Given the description of an element on the screen output the (x, y) to click on. 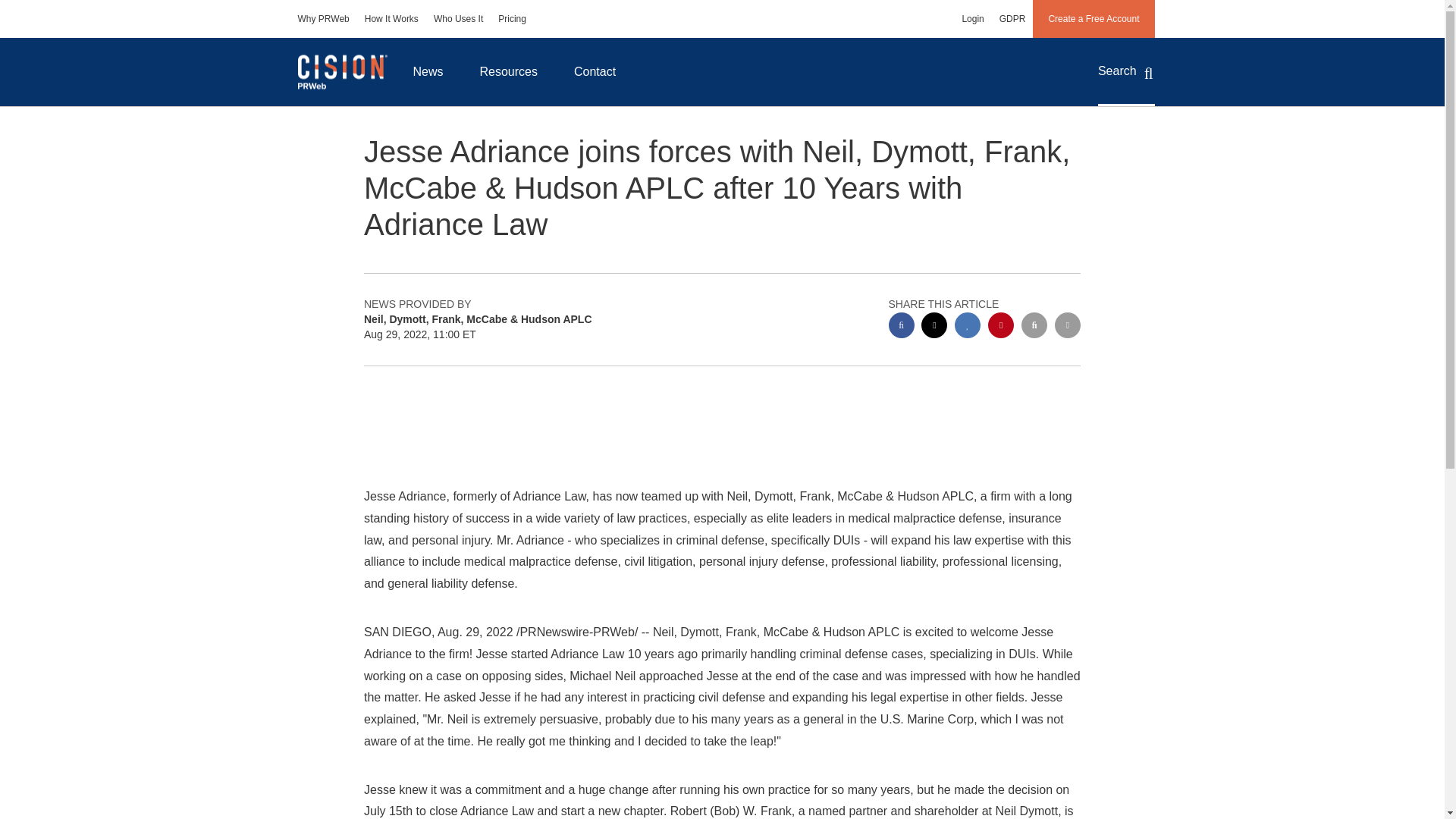
GDPR (1012, 18)
Contact (594, 71)
Login (972, 18)
Resources (508, 71)
Create a Free Account (1093, 18)
Who Uses It (458, 18)
News (427, 71)
Why PRWeb (322, 18)
Pricing (512, 18)
